Given the description of an element on the screen output the (x, y) to click on. 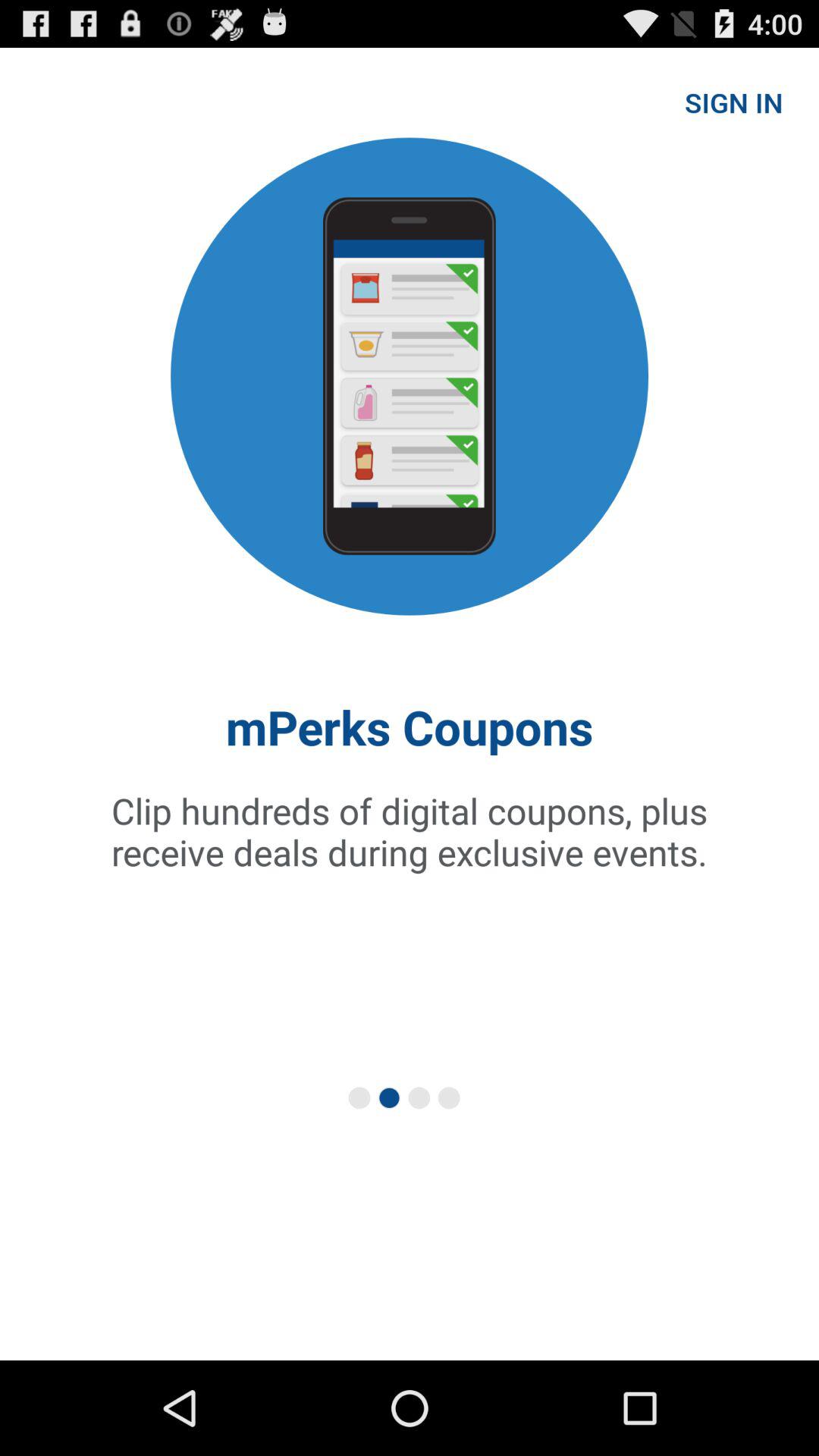
choose the sign in item (733, 101)
